Given the description of an element on the screen output the (x, y) to click on. 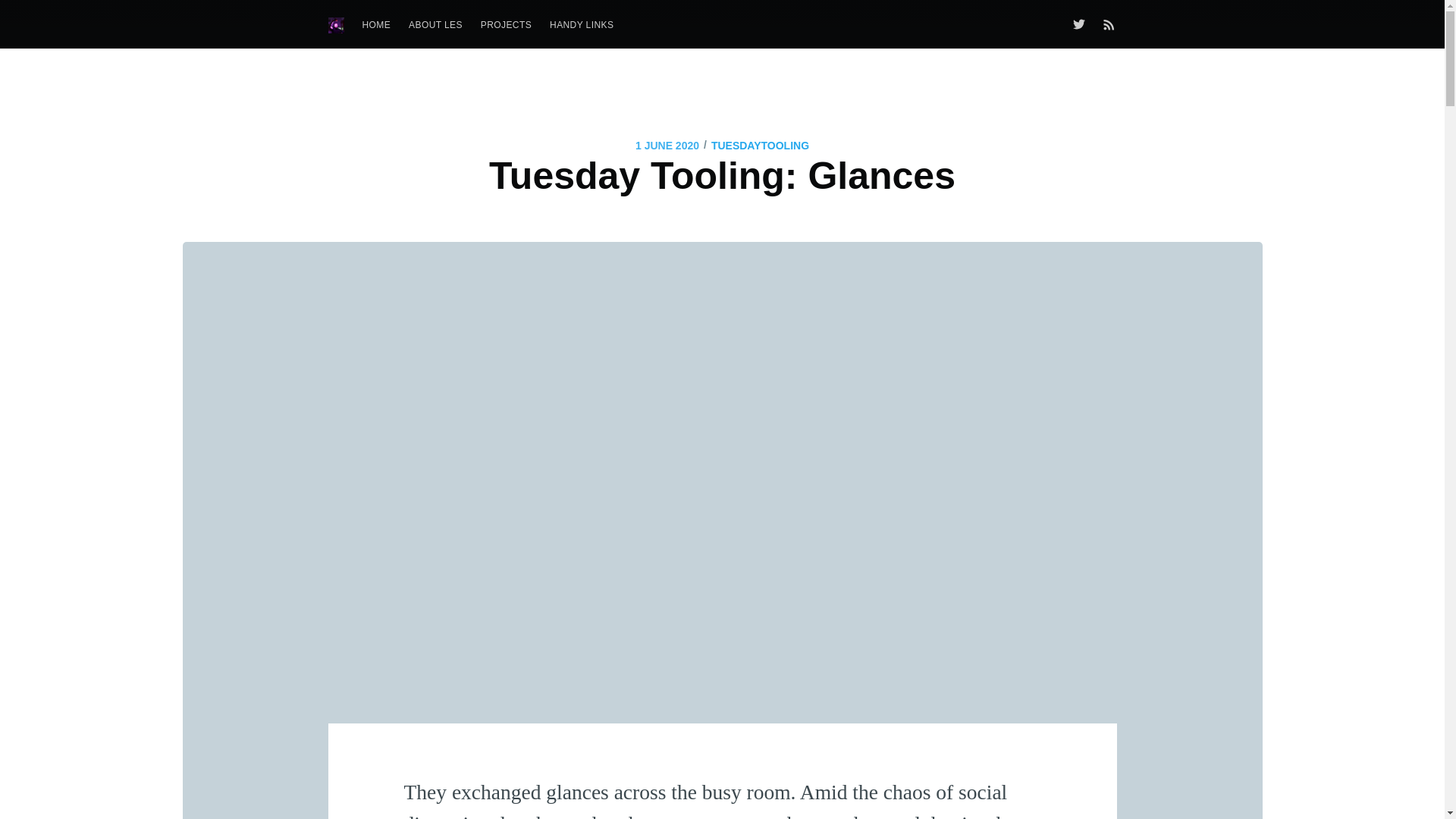
HOME (376, 25)
HANDY LINKS (581, 25)
PROJECTS (505, 25)
ABOUT LES (434, 25)
TUESDAYTOOLING (760, 145)
